Given the description of an element on the screen output the (x, y) to click on. 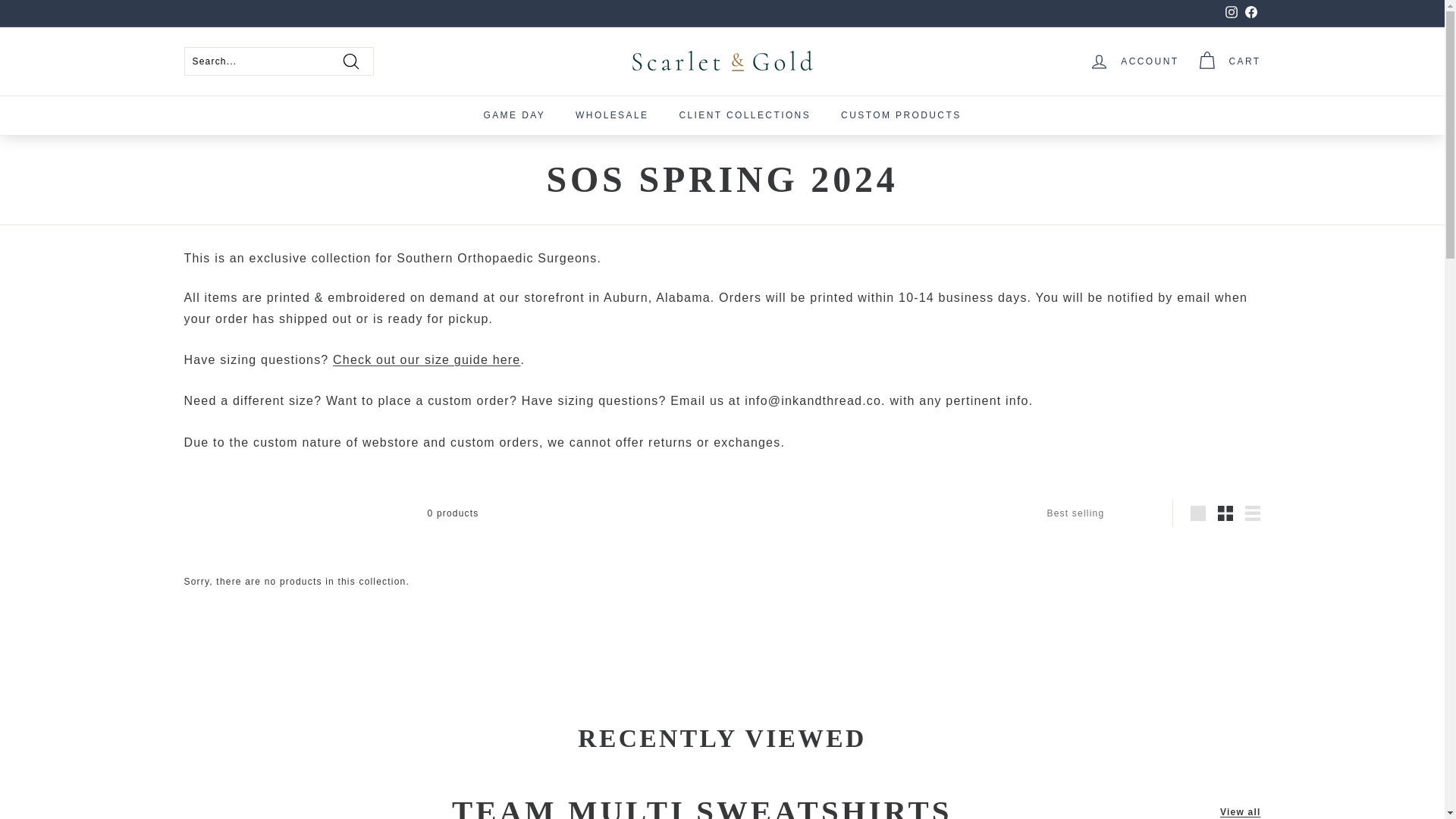
CLIENT COLLECTIONS (744, 115)
ACCOUNT (1134, 60)
List (1252, 512)
Large (1198, 512)
Instagram (1230, 13)
GAME DAY (513, 115)
WHOLESALE (611, 115)
Facebook (1250, 13)
Small (1225, 512)
